Given the description of an element on the screen output the (x, y) to click on. 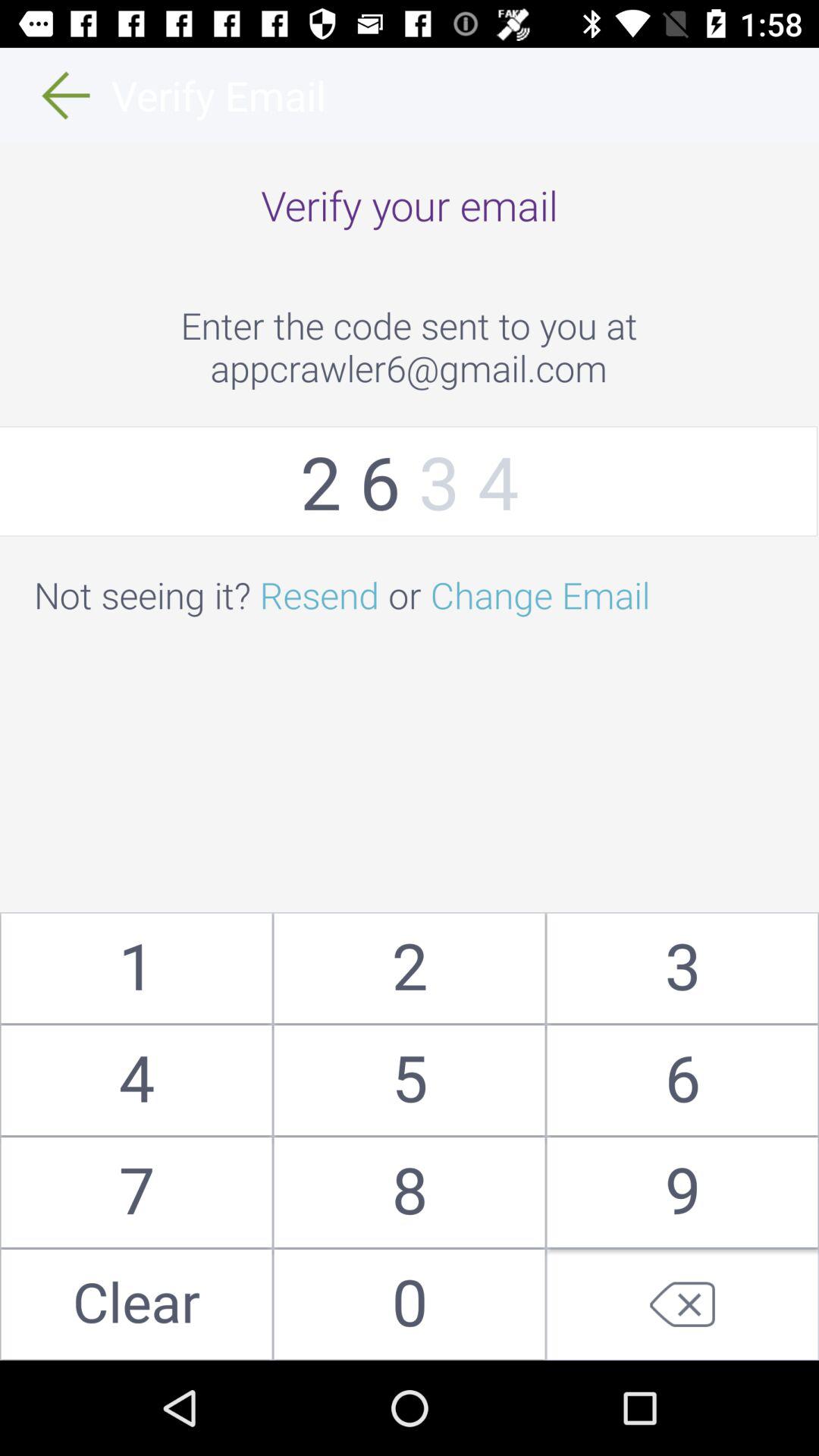
go back (682, 1304)
